Given the description of an element on the screen output the (x, y) to click on. 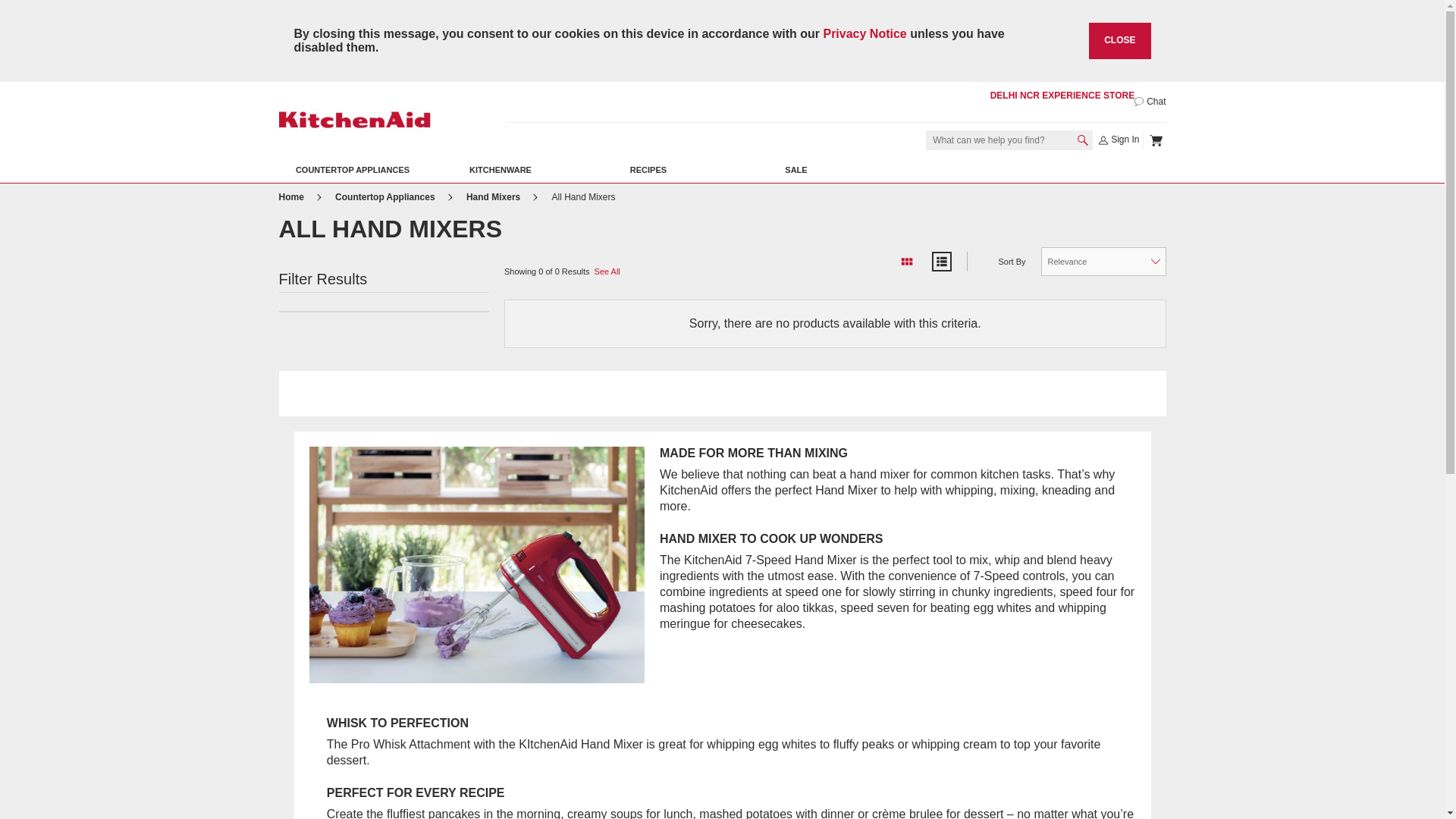
Sign In (1118, 139)
Sign In (1118, 139)
KitchenAid: Discover Premium Countertop Kitchen Appliances (293, 196)
RECIPES (648, 170)
Privacy Notice (863, 33)
DELHI NCR EXPERIENCE STORE (1062, 95)
KITCHENWARE (499, 170)
Privacy Notice (863, 33)
SALE (795, 170)
KitchenAid (354, 119)
Chat (1150, 102)
COUNTERTOP APPLIANCES (352, 170)
CLOSE (1119, 40)
Chat (1150, 102)
